Given the description of an element on the screen output the (x, y) to click on. 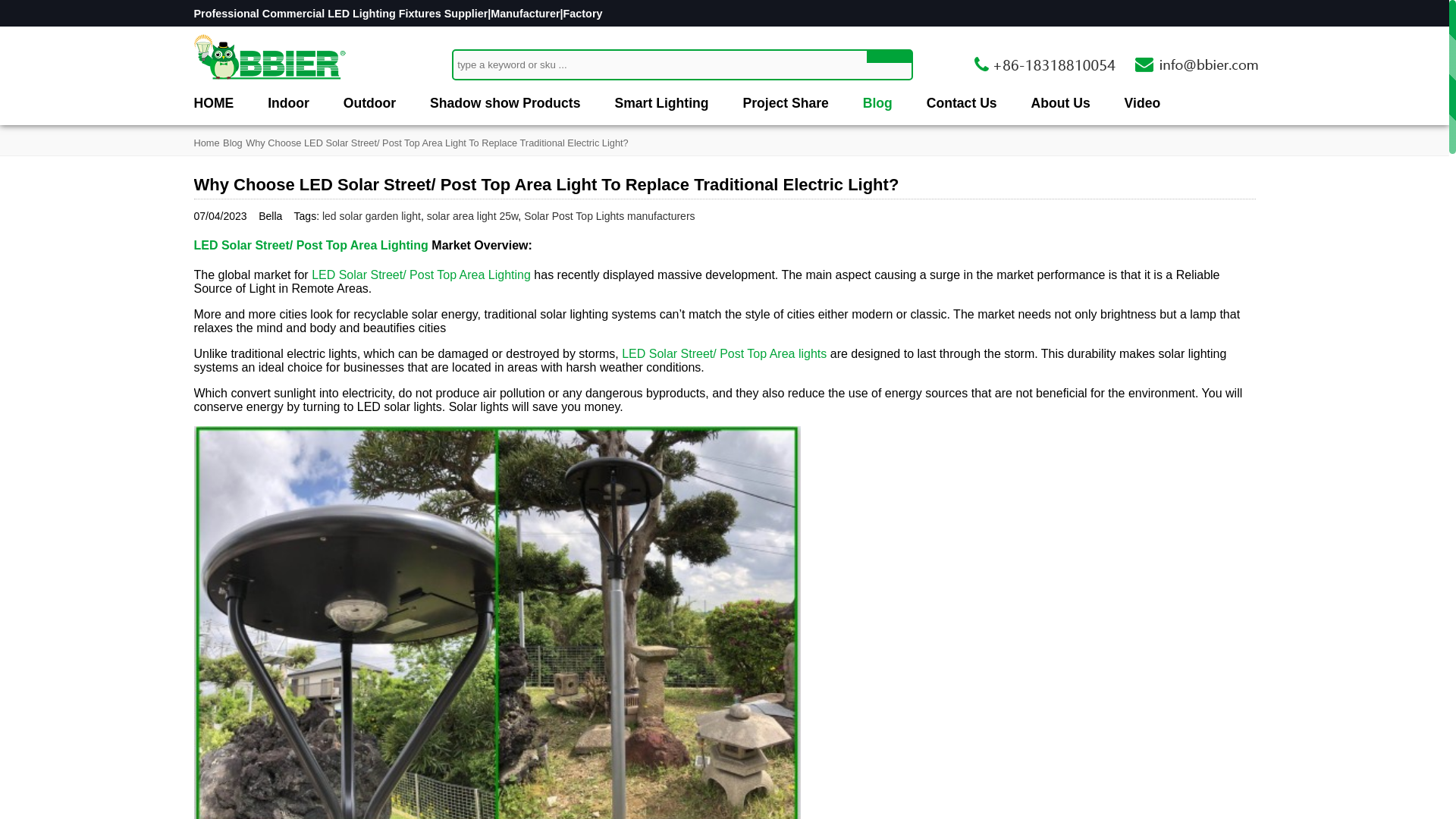
Go to Home Page (206, 142)
Indoor (287, 103)
HOME (213, 103)
Outdoor (369, 103)
